Given the description of an element on the screen output the (x, y) to click on. 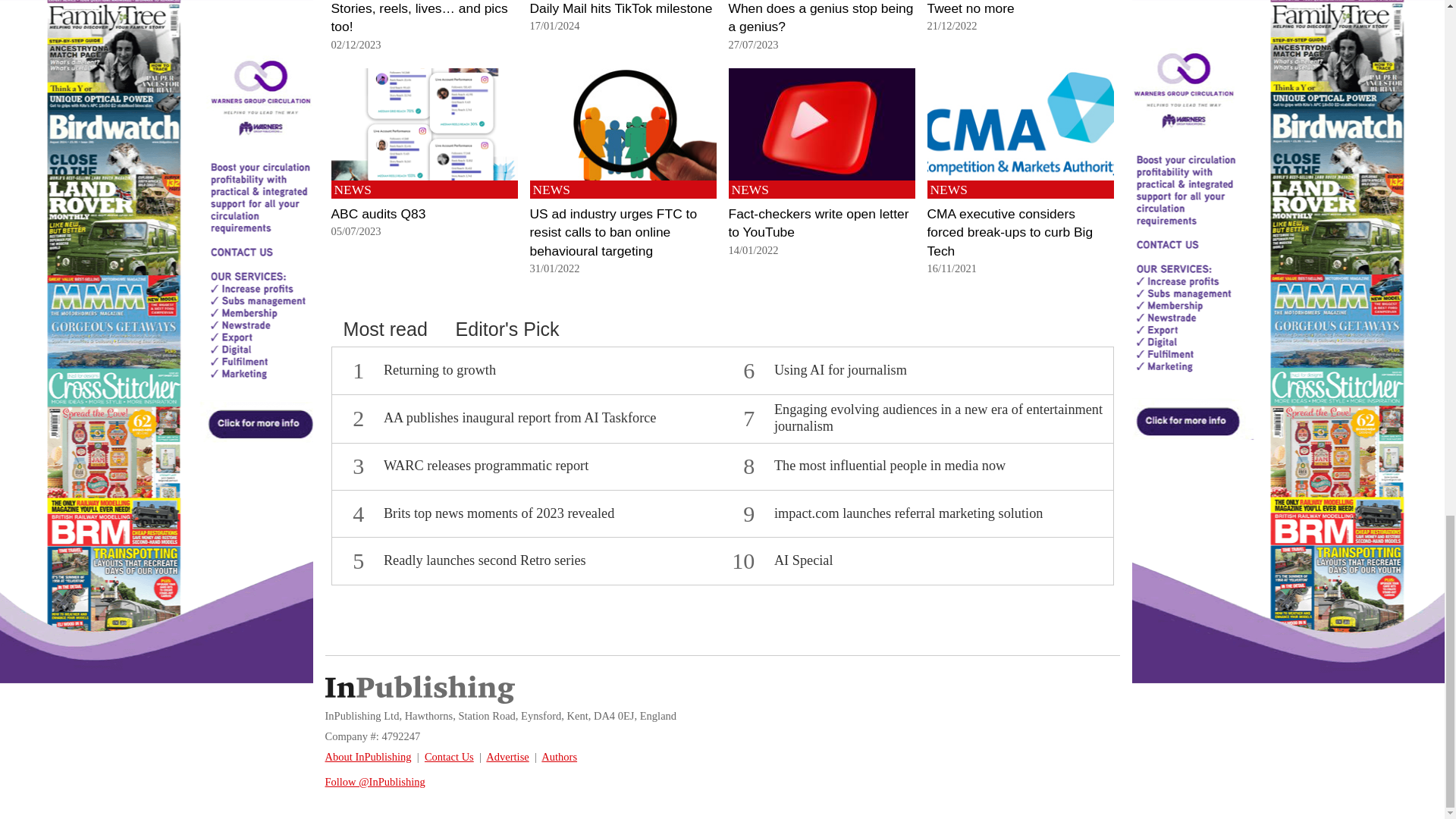
Returning to growth (440, 369)
AA publishes inaugural report from AI Taskforce (520, 417)
Using AI for journalism (840, 369)
